Given the description of an element on the screen output the (x, y) to click on. 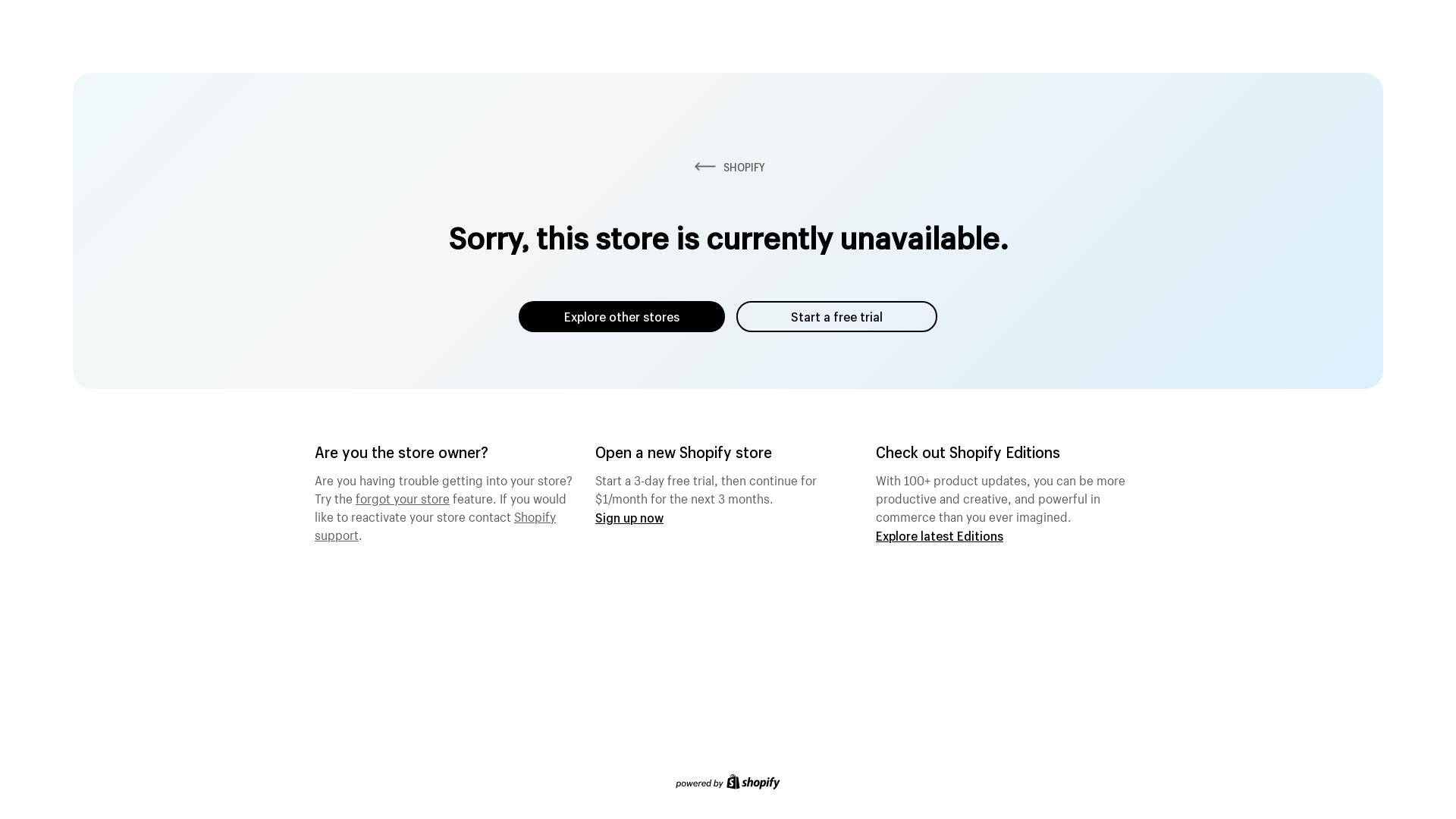
Sign up now Element type: text (629, 517)
Explore latest Editions Element type: text (939, 535)
Explore other stores Element type: text (621, 316)
Shopify support Element type: text (434, 523)
SHOPIFY Element type: text (727, 167)
Start a free trial Element type: text (836, 316)
forgot your store Element type: text (402, 496)
